Given the description of an element on the screen output the (x, y) to click on. 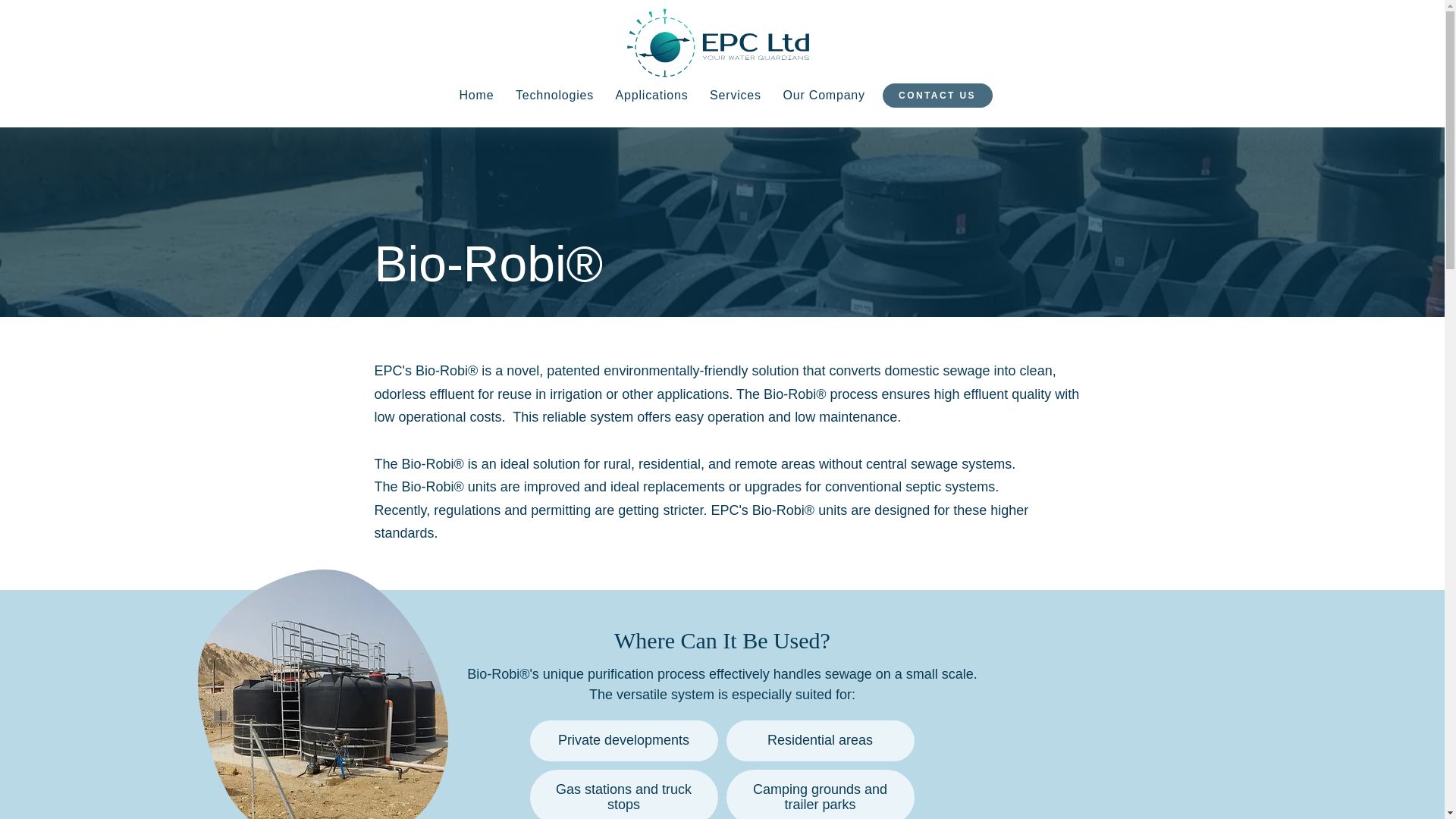
Applications (651, 95)
CONTACT US (937, 95)
Home (476, 95)
